Given the description of an element on the screen output the (x, y) to click on. 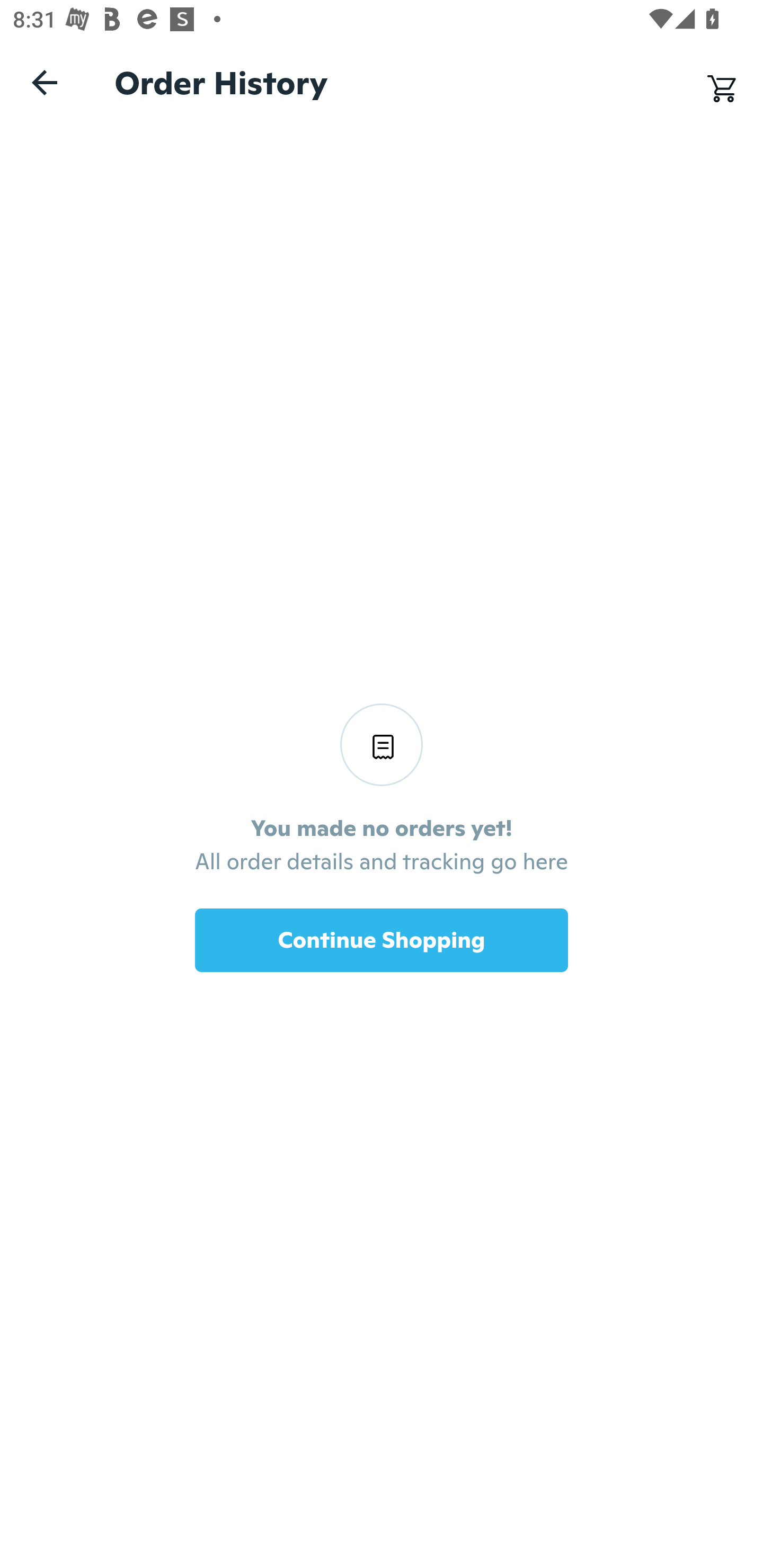
Navigate up (44, 82)
